Given the description of an element on the screen output the (x, y) to click on. 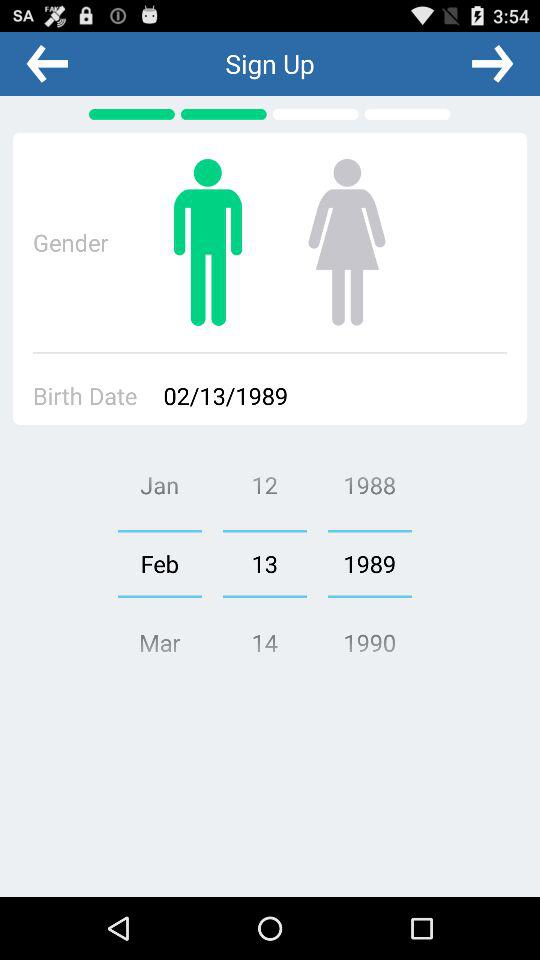
launch icon below the birth date (159, 563)
